Given the description of an element on the screen output the (x, y) to click on. 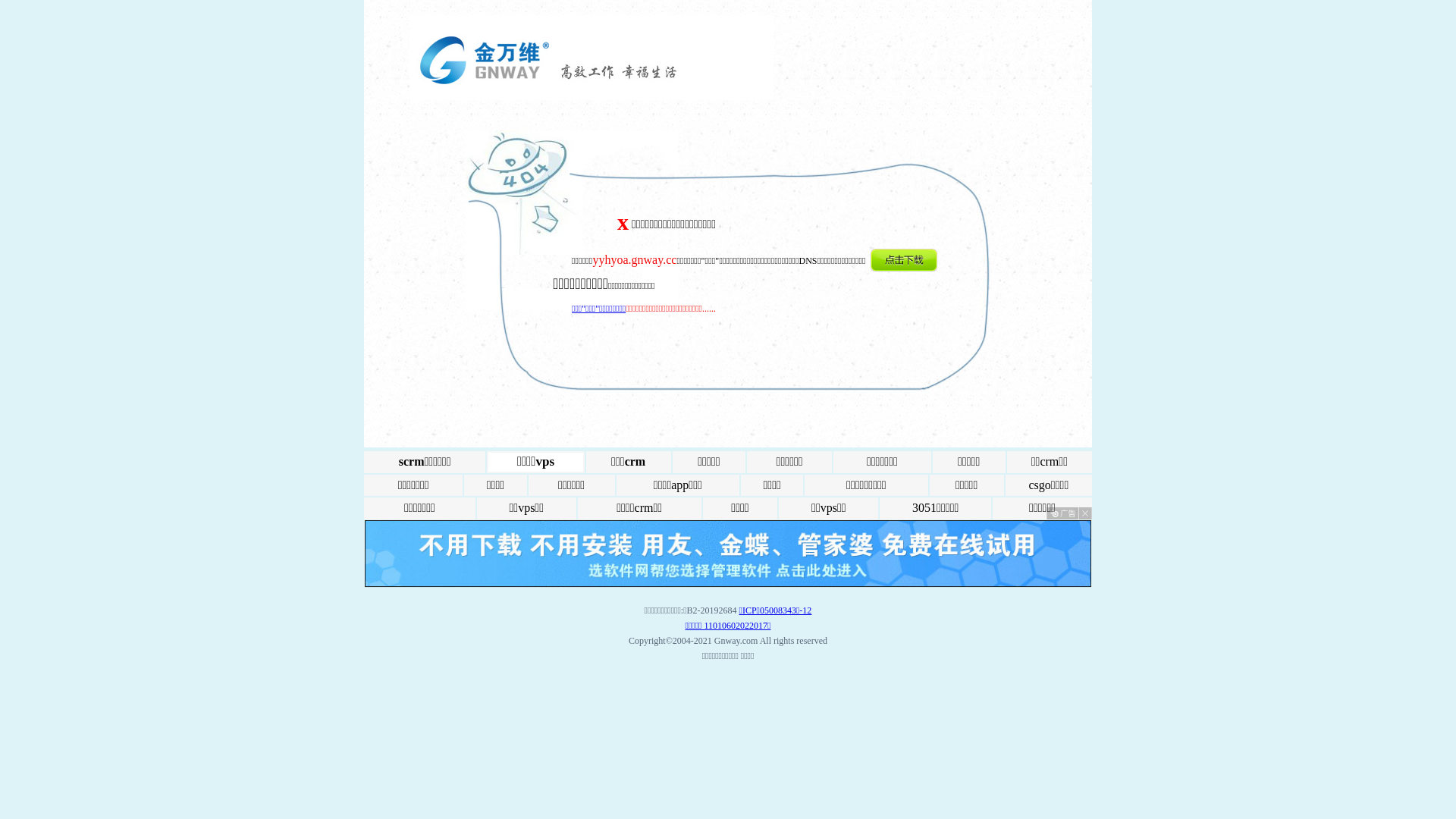
XRJ Element type: hover (728, 583)
